Given the description of an element on the screen output the (x, y) to click on. 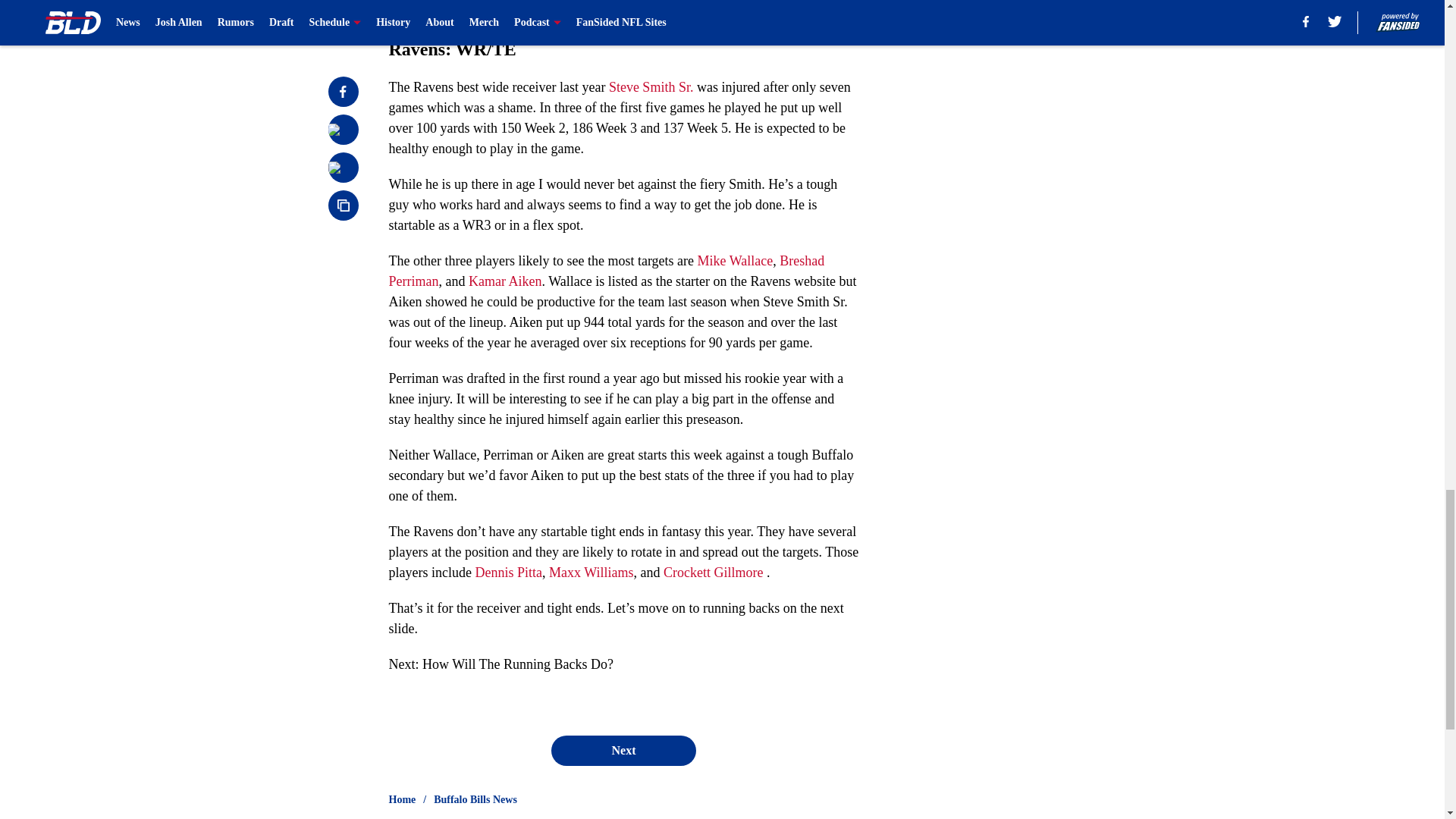
Next (622, 750)
Crockett Gillmore (712, 572)
Steve Smith Sr. (651, 87)
Kamar Aiken (504, 281)
Mike Wallace (735, 260)
Dennis Pitta (507, 572)
Breshad Perriman (606, 271)
Maxx Williams (590, 572)
